Given the description of an element on the screen output the (x, y) to click on. 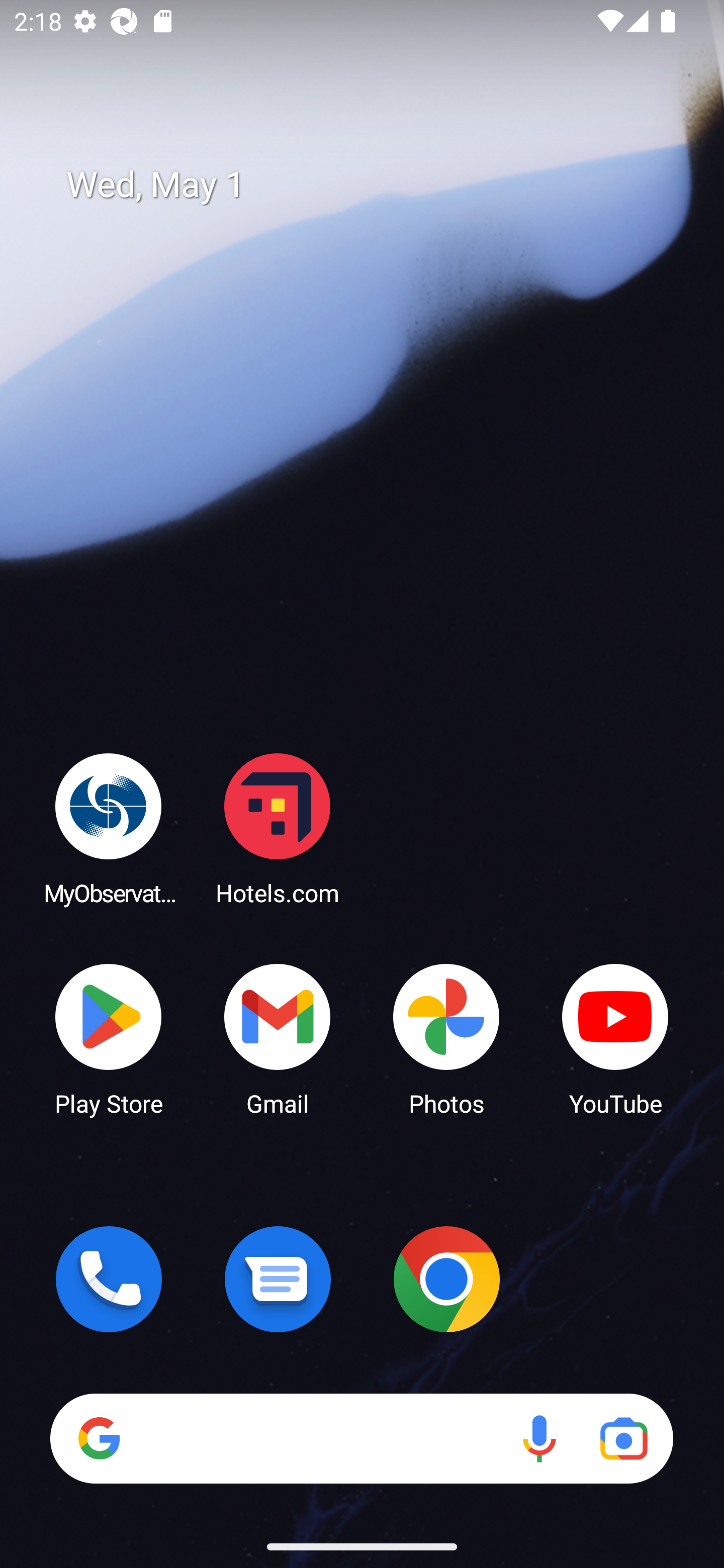
Wed, May 1 (375, 184)
MyObservatory (108, 828)
Hotels.com (277, 828)
Play Store (108, 1038)
Gmail (277, 1038)
Photos (445, 1038)
YouTube (615, 1038)
Phone (108, 1279)
Messages (277, 1279)
Chrome (446, 1279)
Search Voice search Google Lens (361, 1438)
Voice search (539, 1438)
Google Lens (623, 1438)
